Given the description of an element on the screen output the (x, y) to click on. 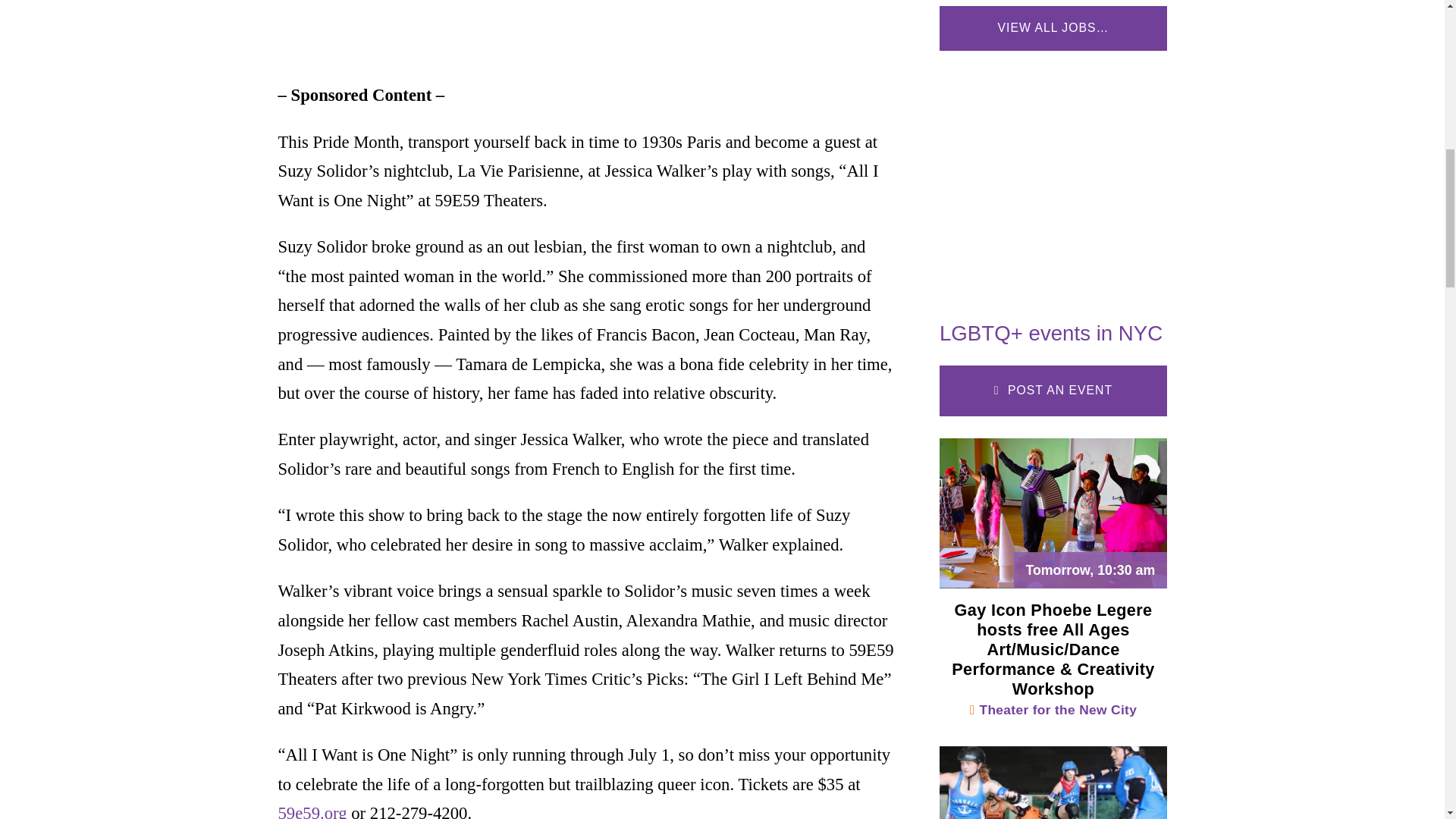
3rd party ad content (1052, 178)
